Given the description of an element on the screen output the (x, y) to click on. 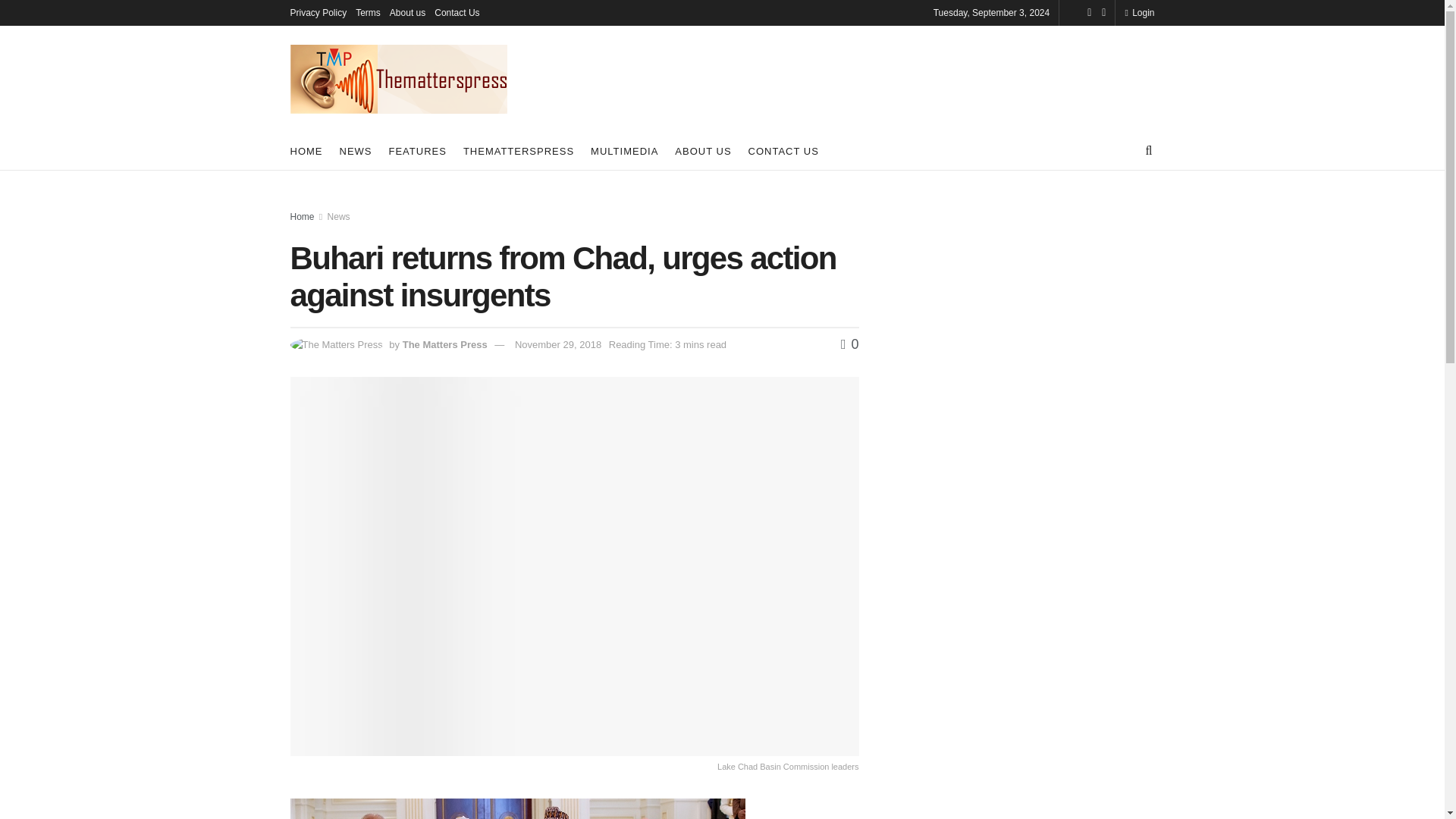
Contact Us (456, 12)
About us (407, 12)
ABOUT US (702, 150)
The Matters Press (445, 344)
CONTACT US (783, 150)
THEMATTERSPRESS (518, 150)
HOME (305, 150)
Terms (367, 12)
November 29, 2018 (558, 344)
News (338, 216)
